Given the description of an element on the screen output the (x, y) to click on. 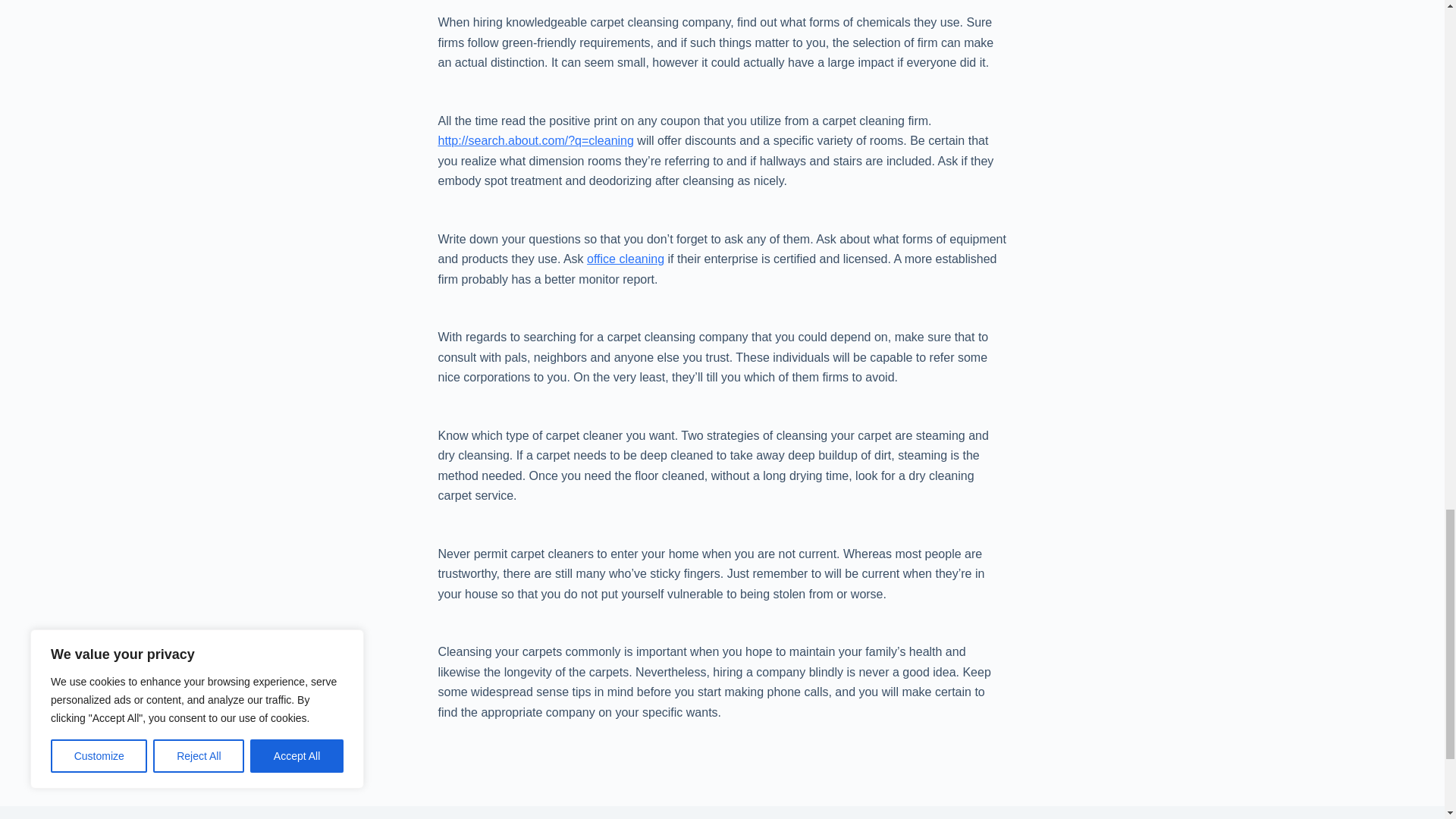
office cleaning (624, 258)
